Given the description of an element on the screen output the (x, y) to click on. 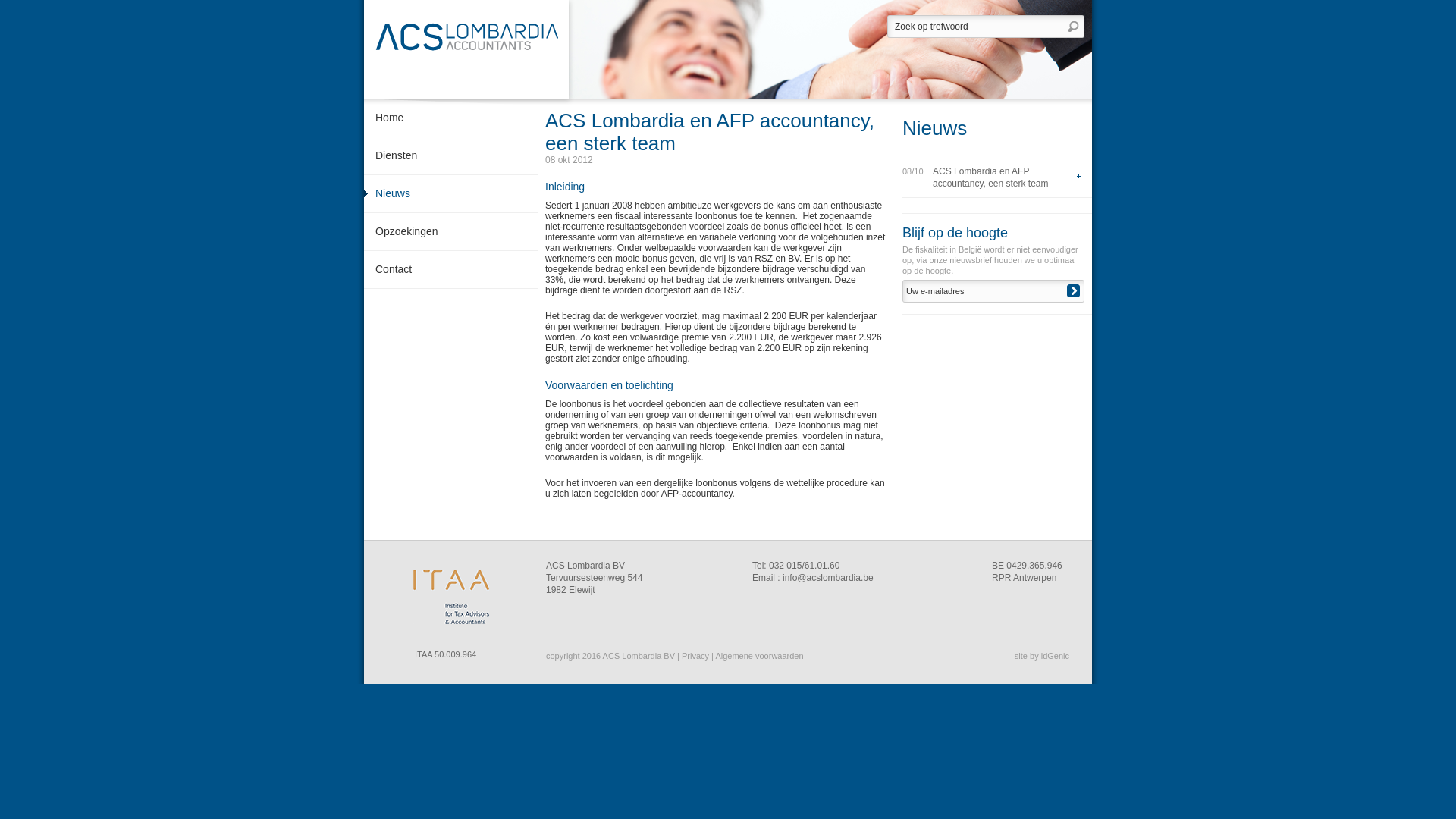
08/10
ACS Lombardia en AFP accountancy, een sterk team Element type: text (991, 176)
Opzoekingen Element type: text (450, 231)
Home Element type: text (450, 117)
Algemene voorwaarden Element type: text (759, 655)
Privacy Element type: text (695, 655)
Diensten Element type: text (450, 155)
Nieuws Element type: text (450, 193)
Contact Element type: text (450, 269)
idGenic Element type: text (1055, 655)
